Given the description of an element on the screen output the (x, y) to click on. 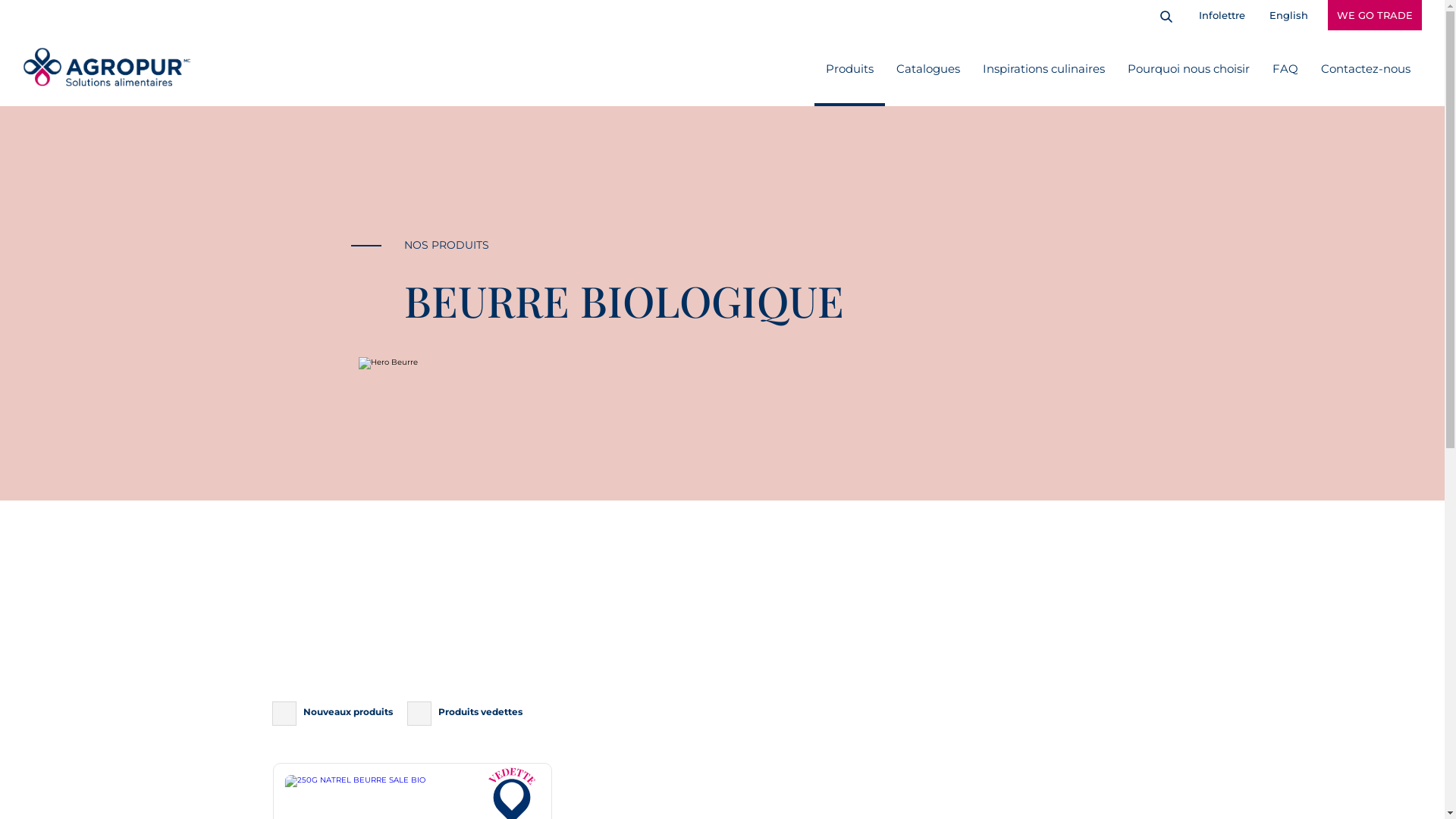
Search Element type: text (1162, 16)
Pourquoi nous choisir Element type: text (1188, 68)
Contactez-nous Element type: text (1365, 68)
Inspirations culinaires Element type: text (1043, 68)
FAQ Element type: text (1285, 68)
English Element type: text (1288, 14)
Aller au contenu principal Element type: text (0, 0)
Apply Element type: text (26, 12)
Produits Element type: text (849, 68)
Infolettre Element type: text (1221, 15)
Catalogues Element type: text (927, 68)
WE GO TRADE Element type: text (1374, 15)
